Given the description of an element on the screen output the (x, y) to click on. 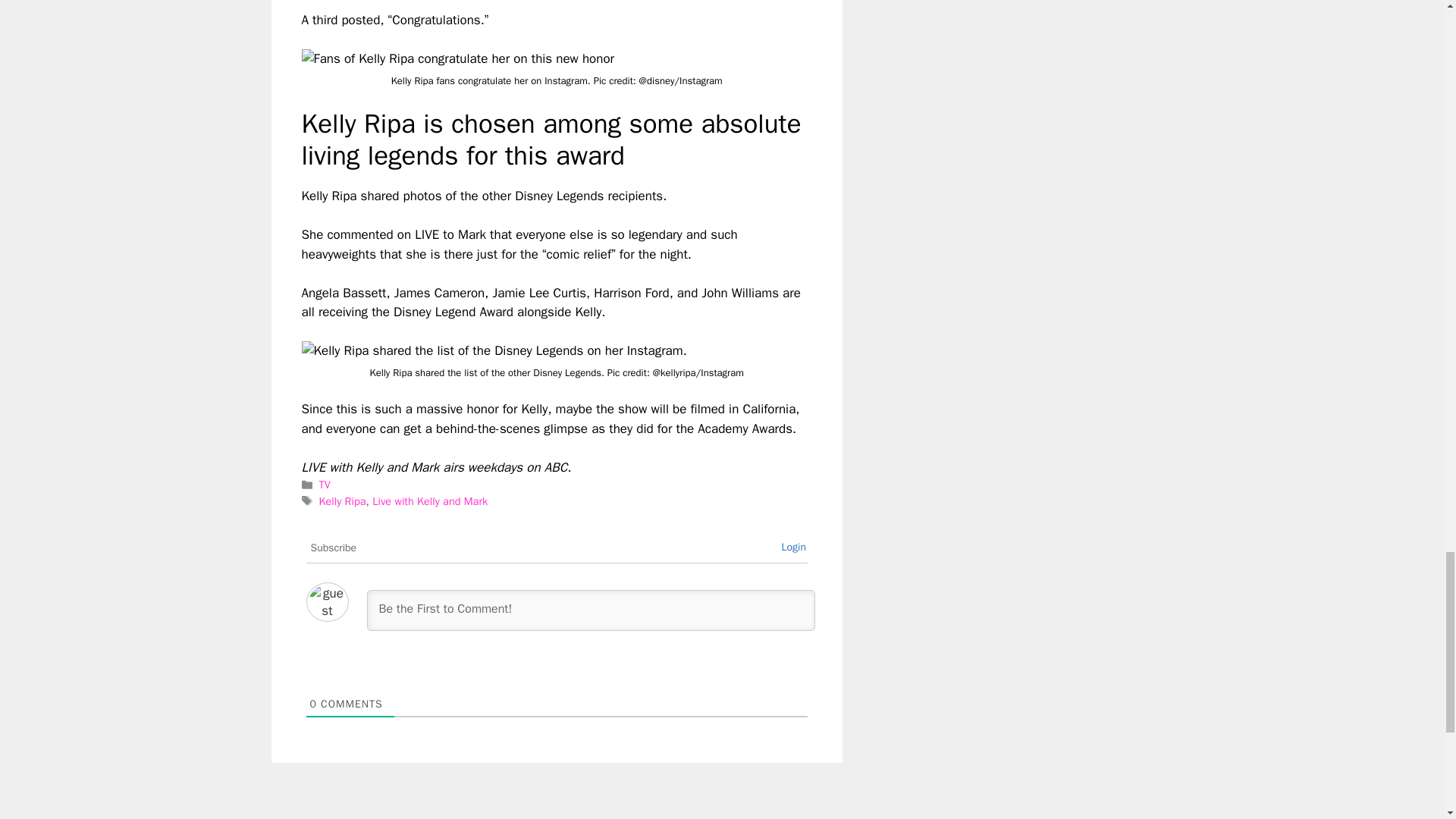
Kelly Ripa (342, 500)
Live with Kelly and Mark (429, 500)
Login (793, 546)
